Given the description of an element on the screen output the (x, y) to click on. 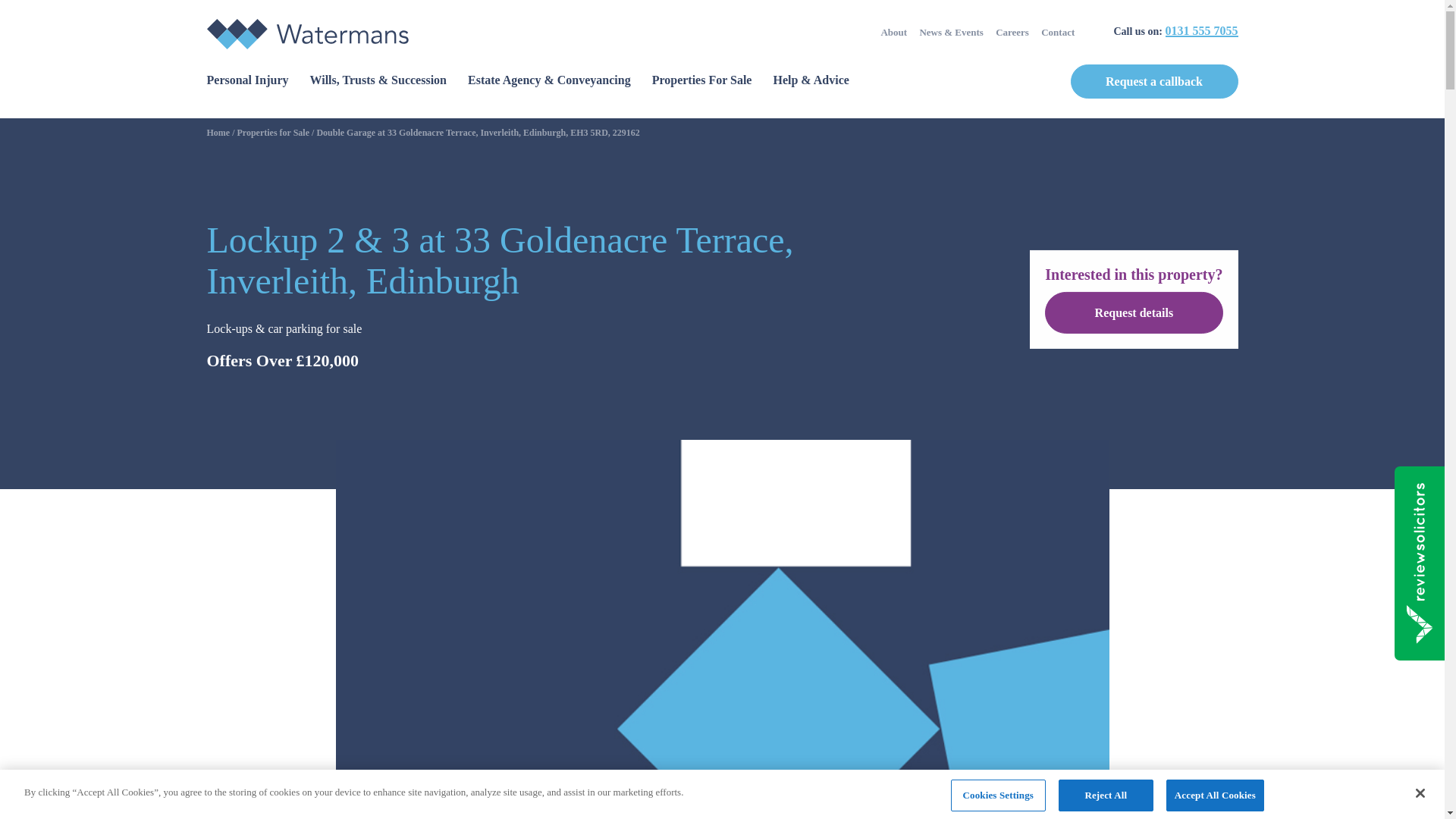
About (893, 30)
Contact (1057, 30)
Careers (1012, 30)
Request a callback (1154, 81)
Personal Injury (247, 79)
0131 555 7055 (1200, 30)
